Given the description of an element on the screen output the (x, y) to click on. 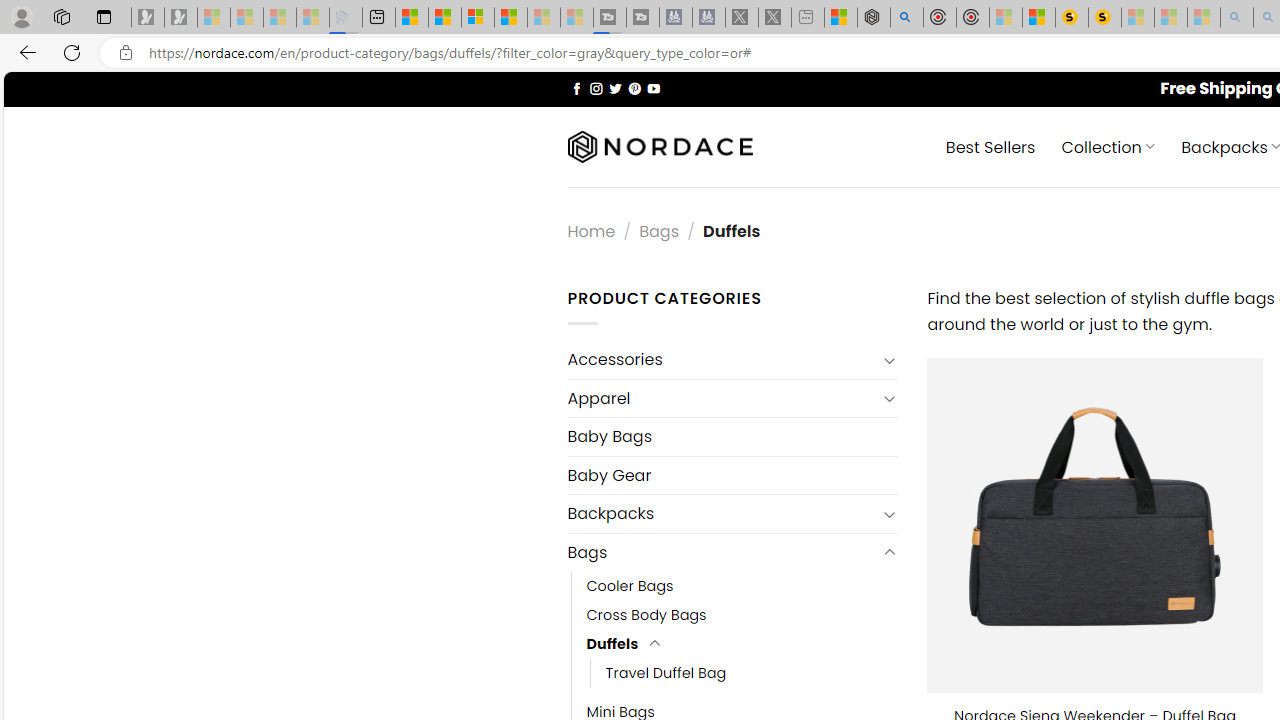
Overview (478, 17)
Cooler Bags (630, 585)
Follow on Instagram (596, 88)
  Best Sellers (989, 146)
